Given the description of an element on the screen output the (x, y) to click on. 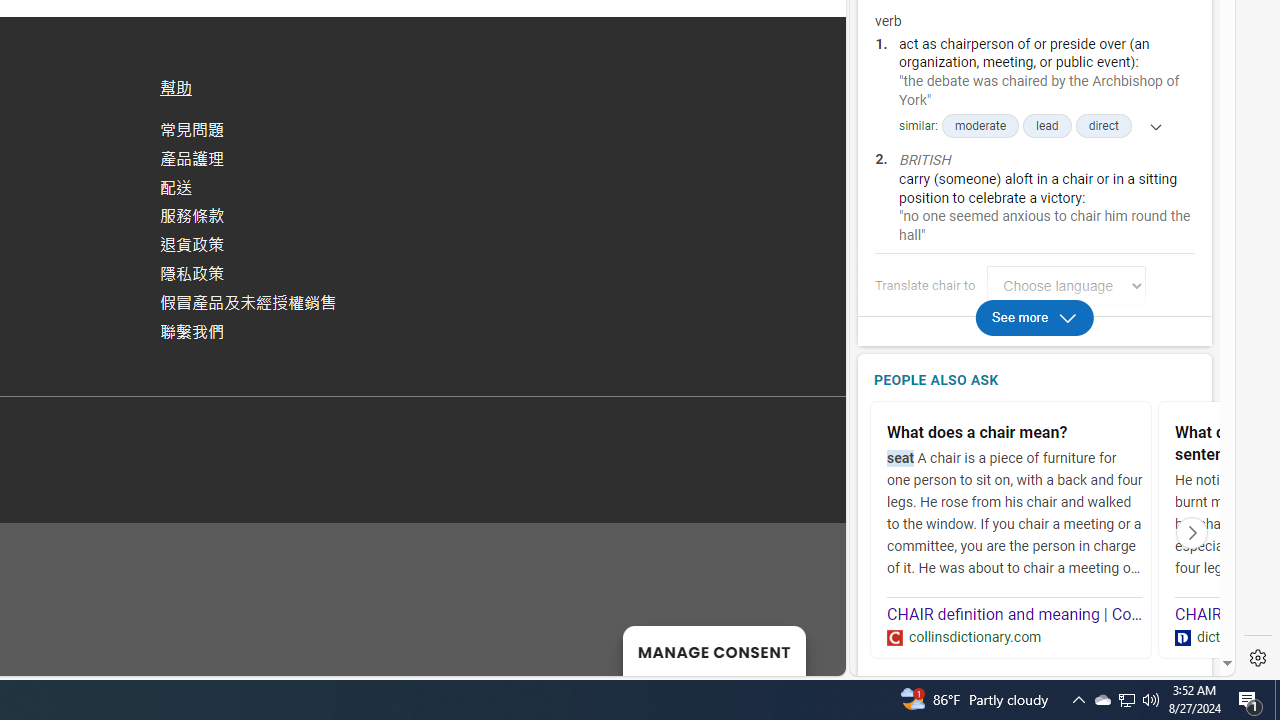
Link for logging (1072, 285)
Show more (1149, 125)
Translate chair to Choose language (1066, 285)
direct (1103, 125)
